Given the description of an element on the screen output the (x, y) to click on. 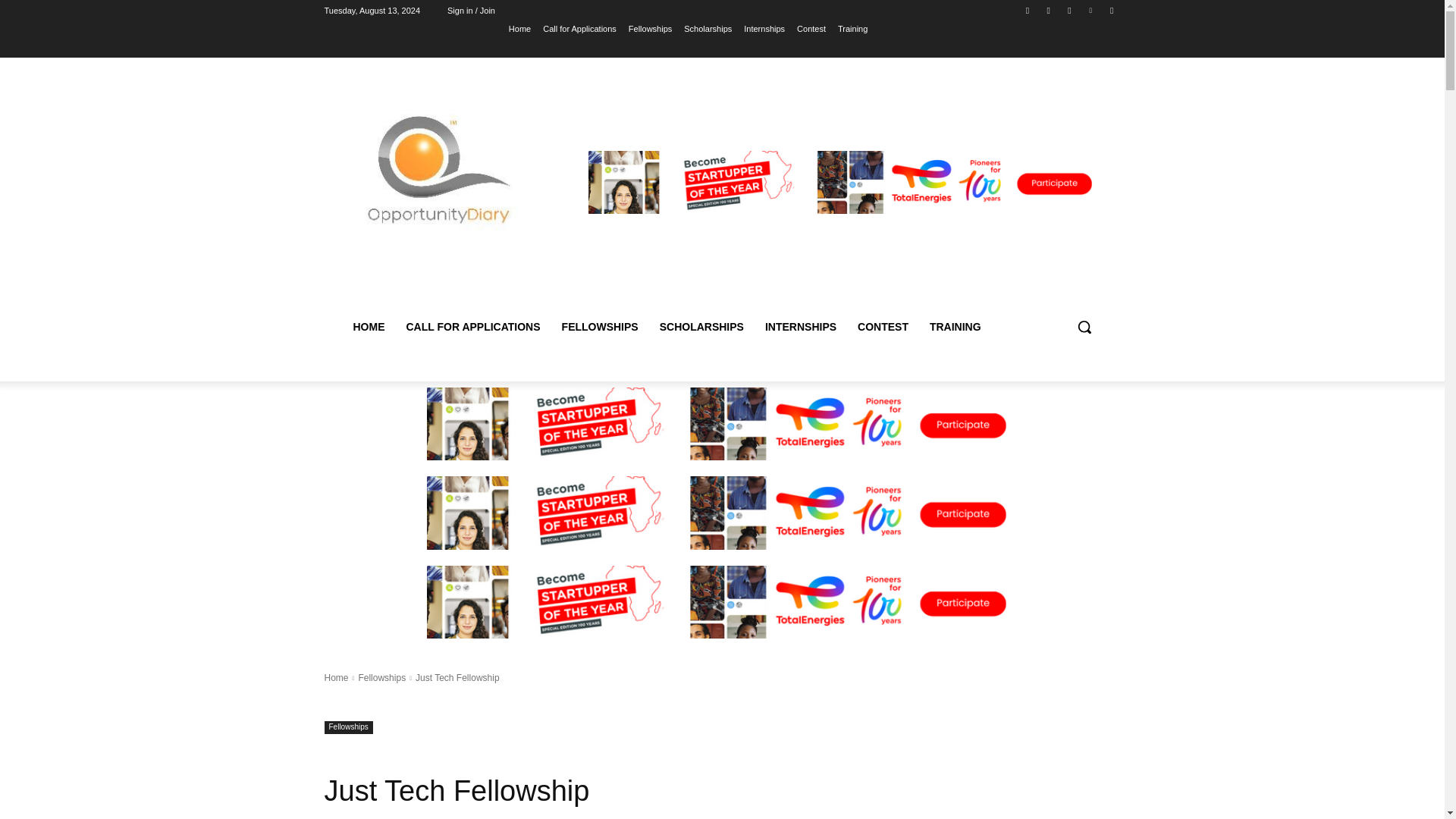
Home (336, 677)
Internships (764, 28)
FELLOWSHIPS (600, 326)
Home (519, 28)
View all posts in Fellowships (382, 677)
Twitter (1069, 9)
INTERNSHIPS (800, 326)
Fellowships (649, 28)
Instagram (1048, 9)
CALL FOR APPLICATIONS (473, 326)
